Given the description of an element on the screen output the (x, y) to click on. 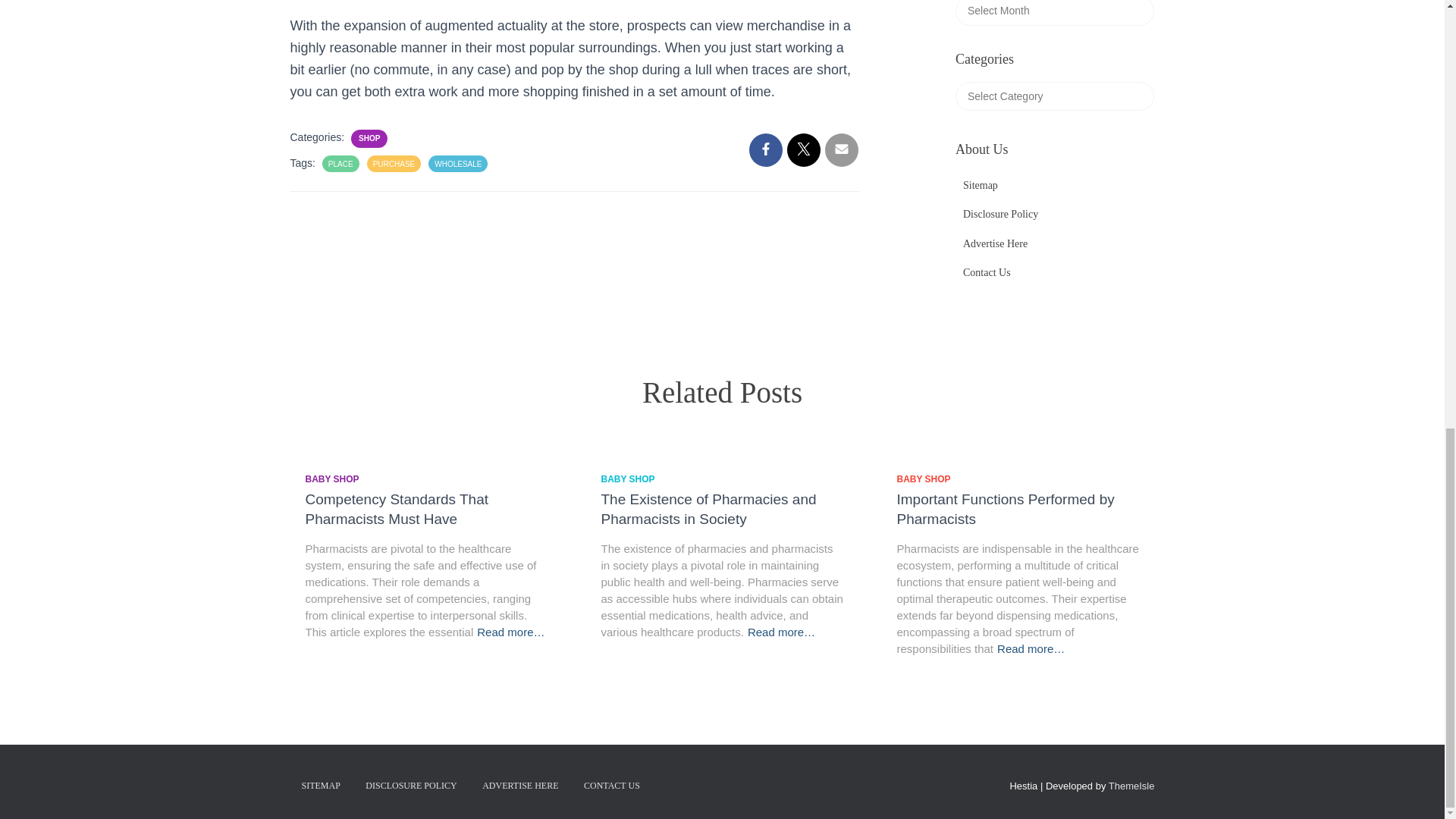
PLACE (341, 163)
PURCHASE (393, 163)
SHOP (369, 138)
WHOLESALE (457, 163)
